Given the description of an element on the screen output the (x, y) to click on. 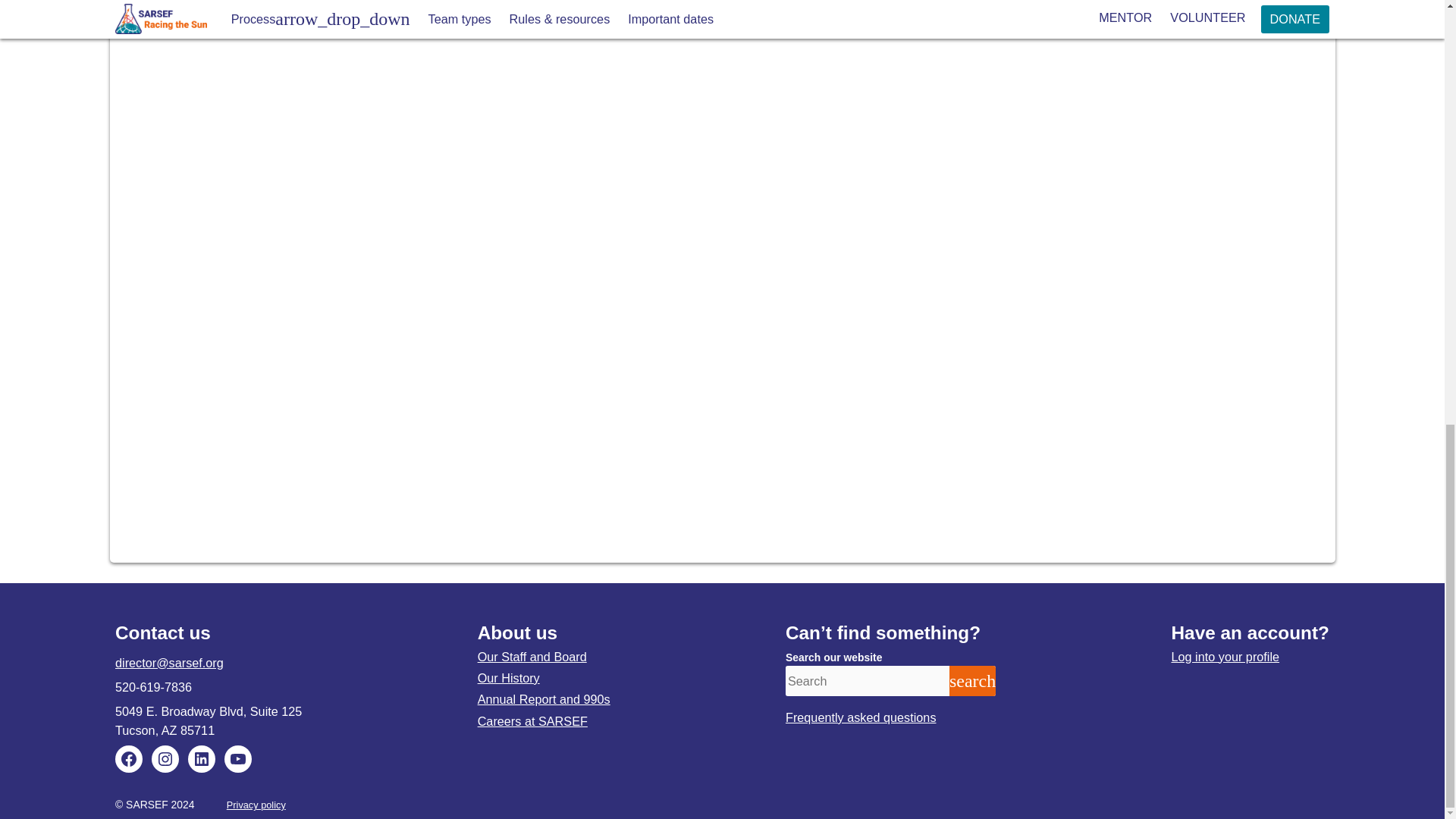
Annual Report and 990s (543, 698)
Careers at SARSEF (532, 721)
Facebook (128, 759)
LinkedIn (201, 759)
Our History (508, 677)
YouTube (237, 759)
Instagram (165, 759)
Our Staff and Board (531, 656)
search (972, 680)
Frequently asked questions (861, 716)
